Given the description of an element on the screen output the (x, y) to click on. 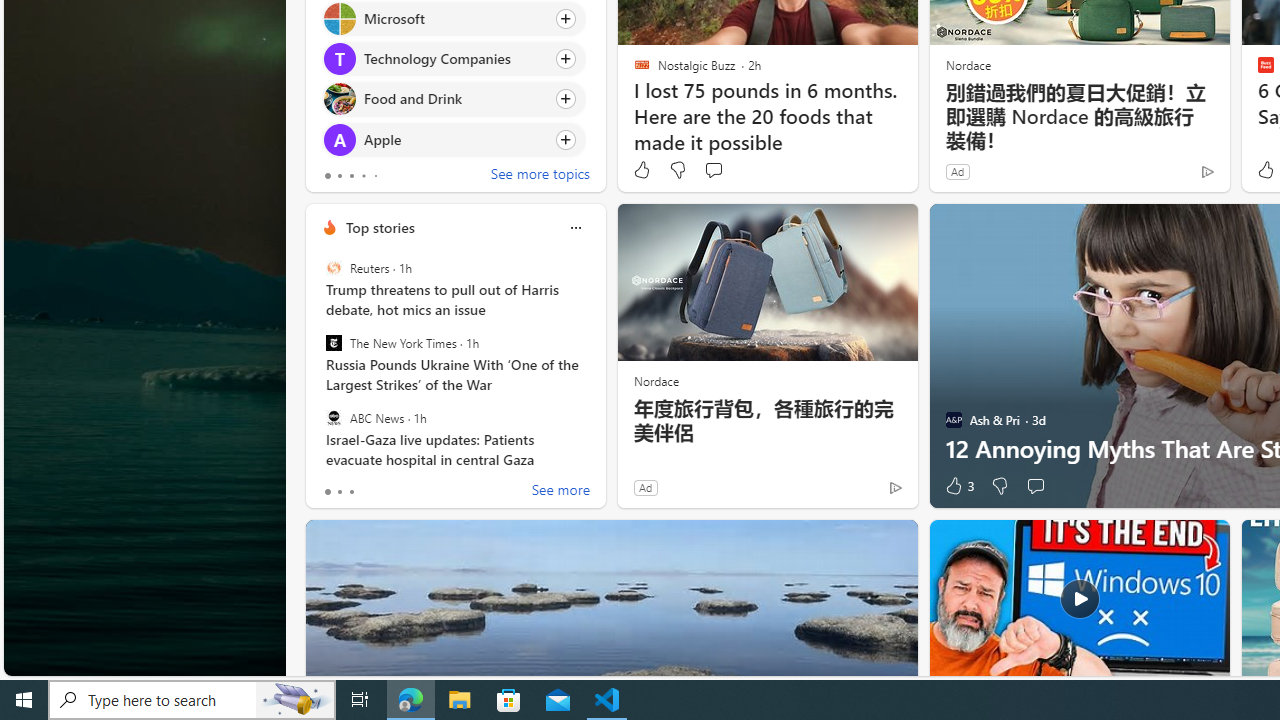
Dislike (998, 485)
Top stories (379, 227)
Nordace (655, 380)
Like (641, 170)
3 Like (957, 485)
tab-2 (351, 491)
Click to follow topic Technology Companies (453, 59)
Click to follow topic Food and Drink (453, 99)
tab-3 (363, 175)
See more topics (540, 175)
Reuters (333, 268)
